Given the description of an element on the screen output the (x, y) to click on. 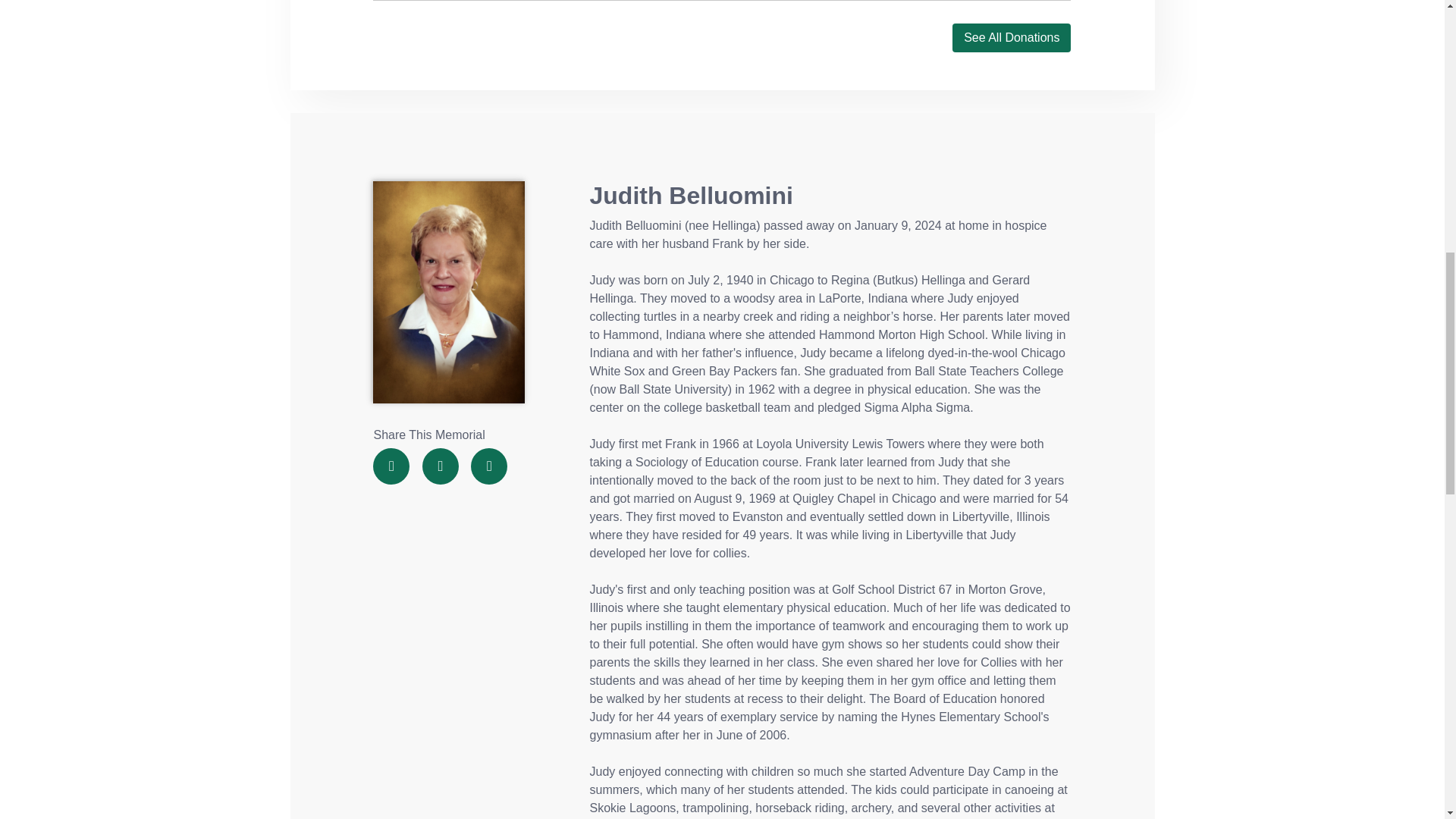
Share this Memorial on Facebook (390, 465)
Share this Memorial on Twitter (440, 465)
See All Donations (1011, 37)
Share this Memorial through Email (488, 465)
